Given the description of an element on the screen output the (x, y) to click on. 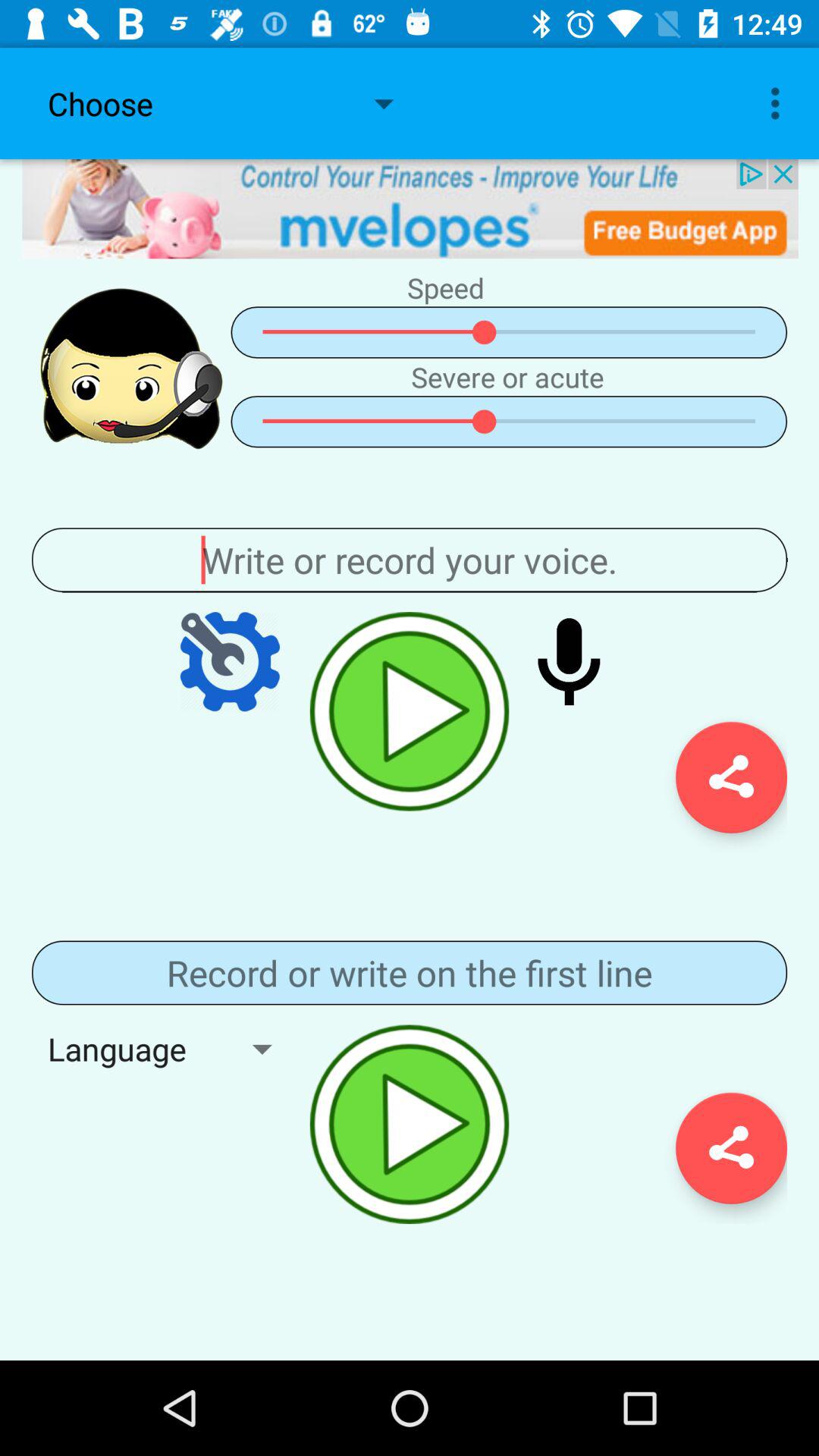
toggle play (409, 1123)
